Given the description of an element on the screen output the (x, y) to click on. 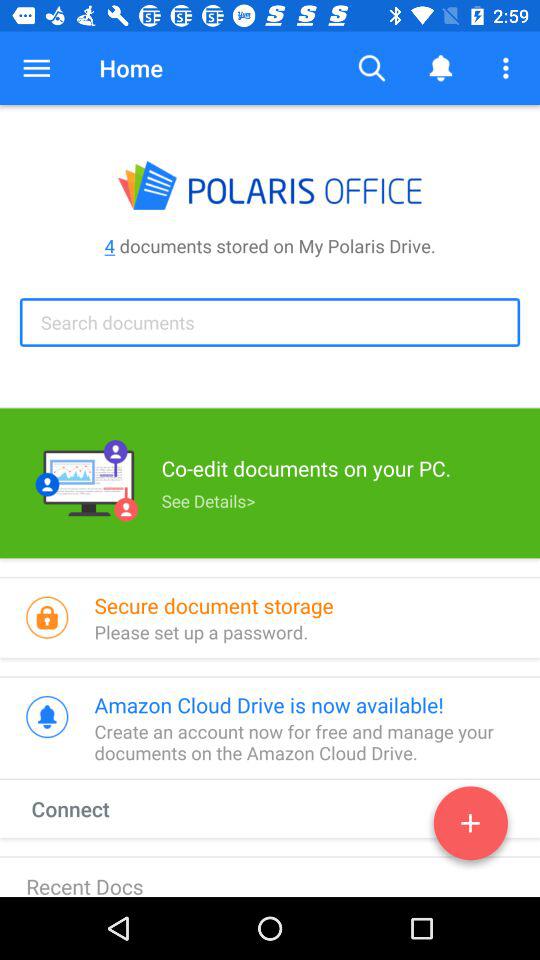
launch icon above the 4 documents stored item (508, 67)
